Given the description of an element on the screen output the (x, y) to click on. 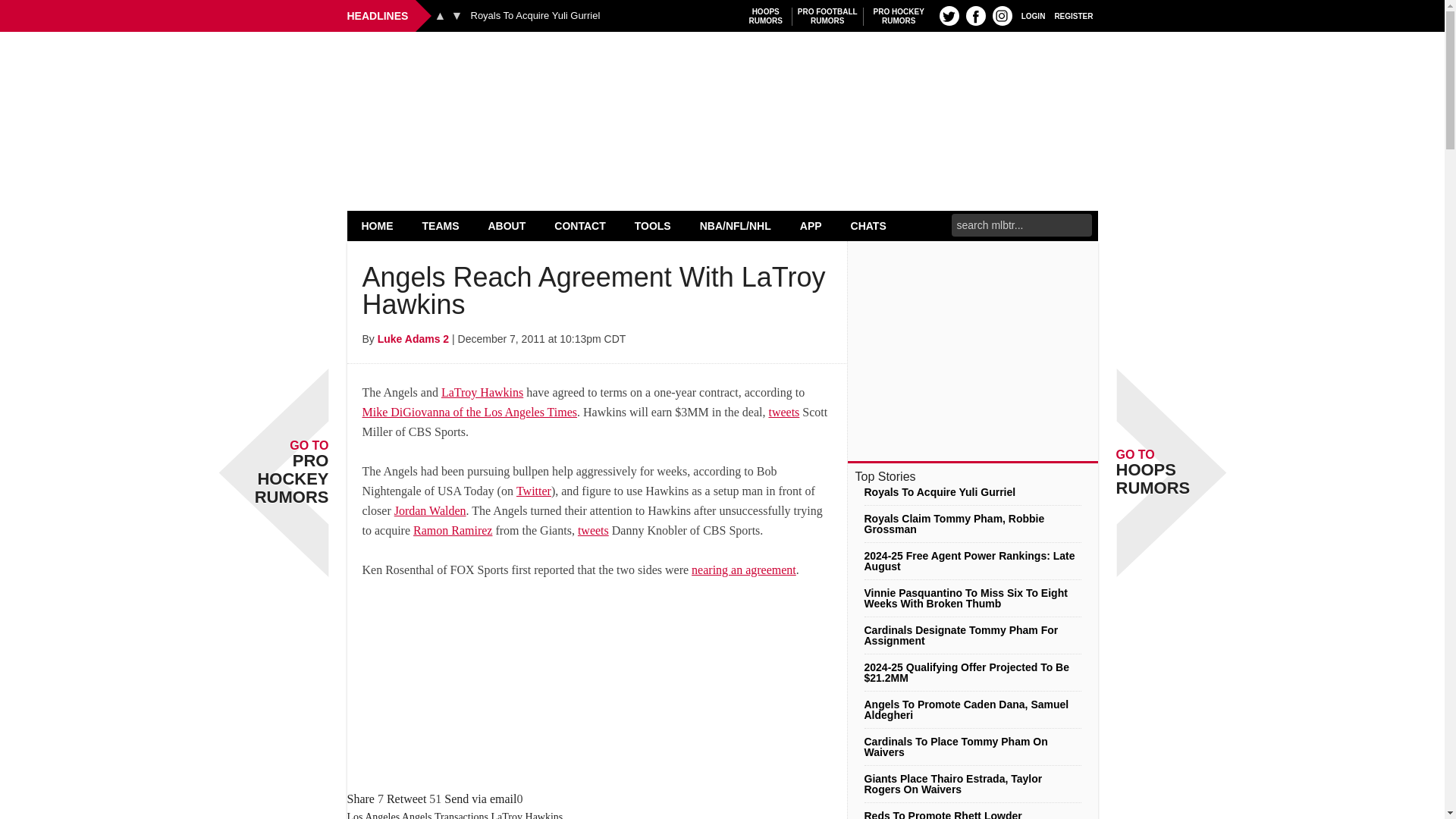
Instagram profile (1001, 15)
Next (456, 15)
HOME (377, 225)
MLB Trade Rumors (722, 69)
LOGIN (1032, 15)
TEAMS (440, 225)
FB profile (975, 15)
Twitter profile (949, 15)
